Given the description of an element on the screen output the (x, y) to click on. 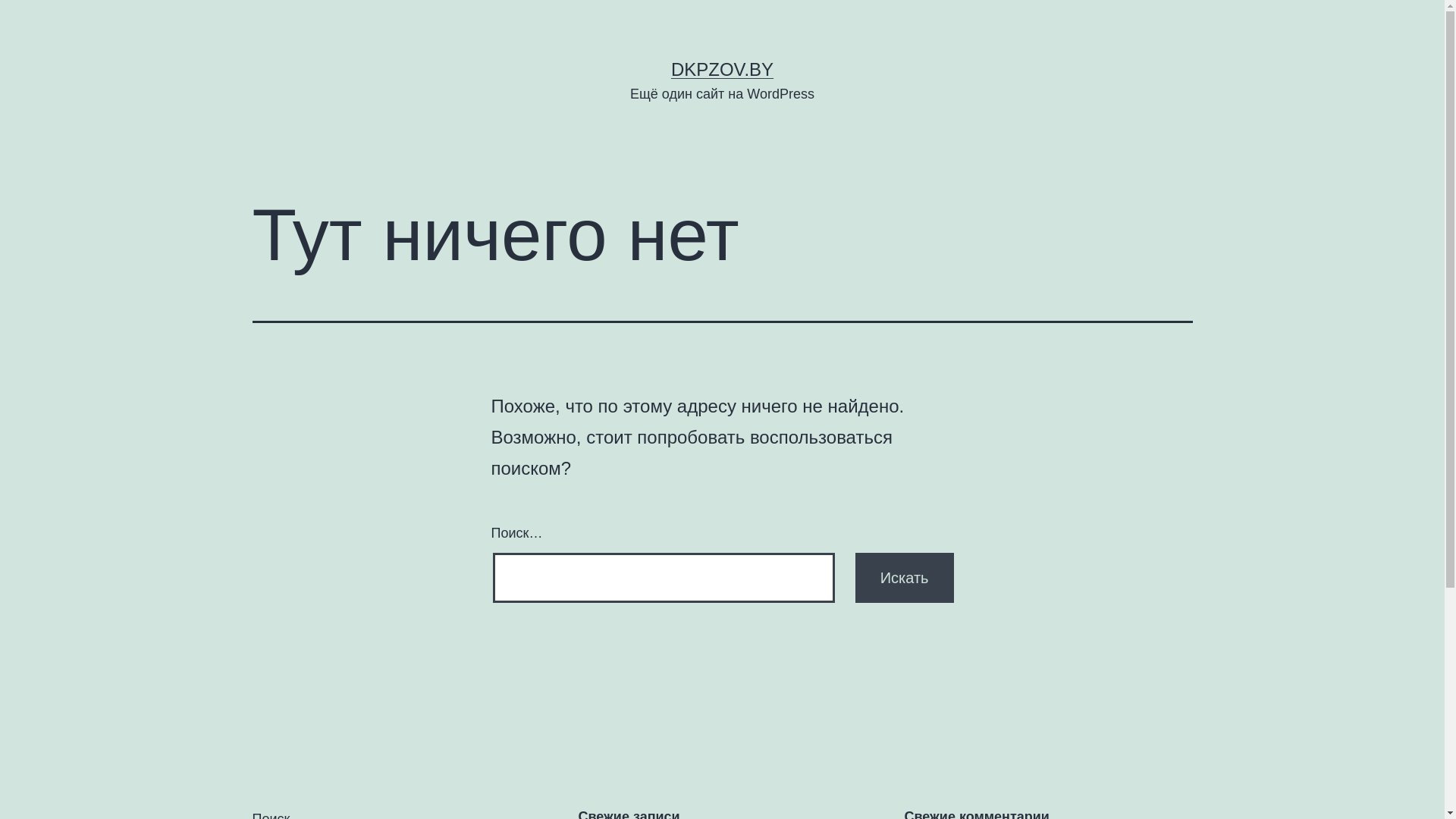
DKPZOV.BY Element type: text (722, 69)
